Given the description of an element on the screen output the (x, y) to click on. 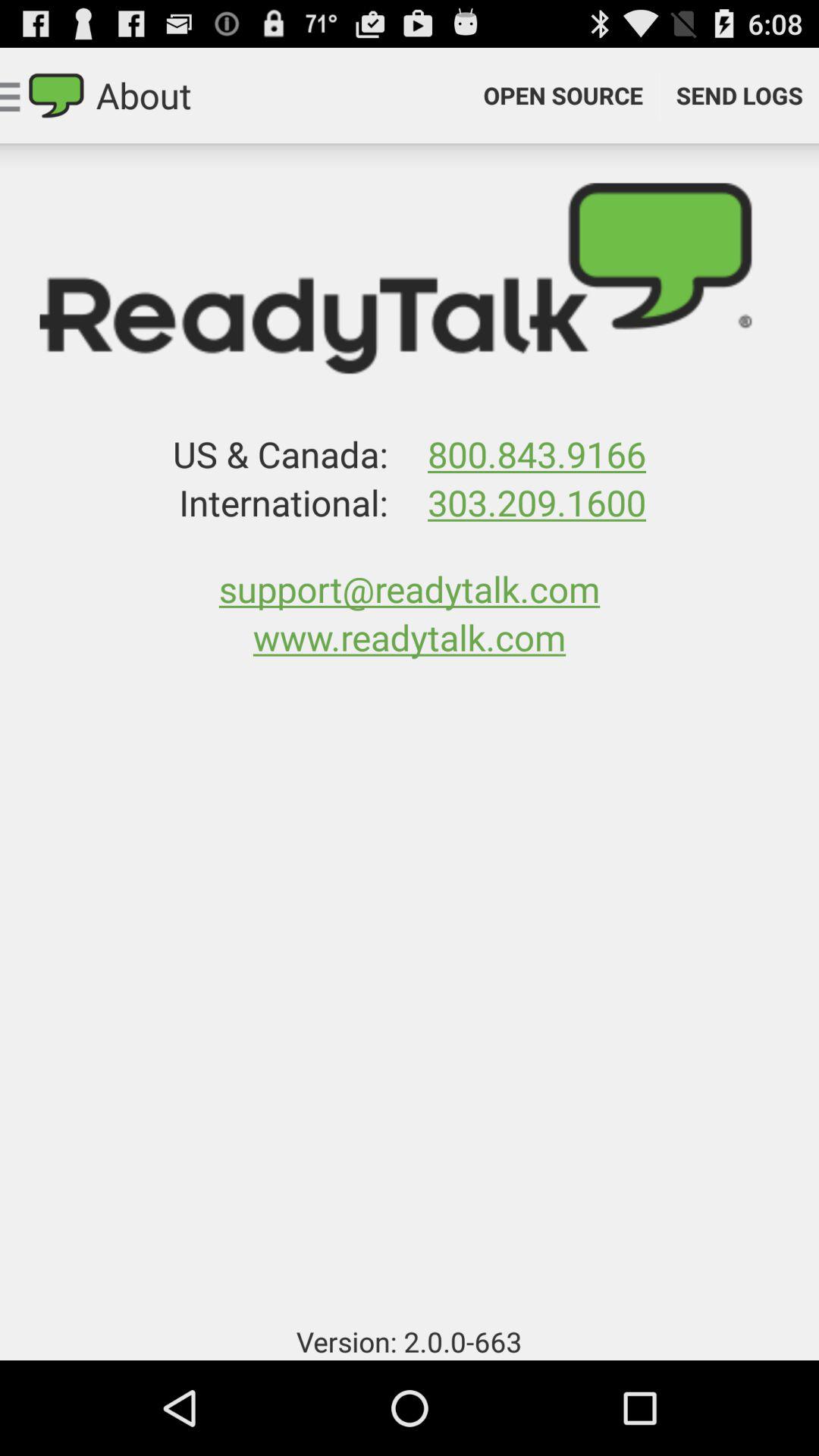
turn on the open source (563, 95)
